Given the description of an element on the screen output the (x, y) to click on. 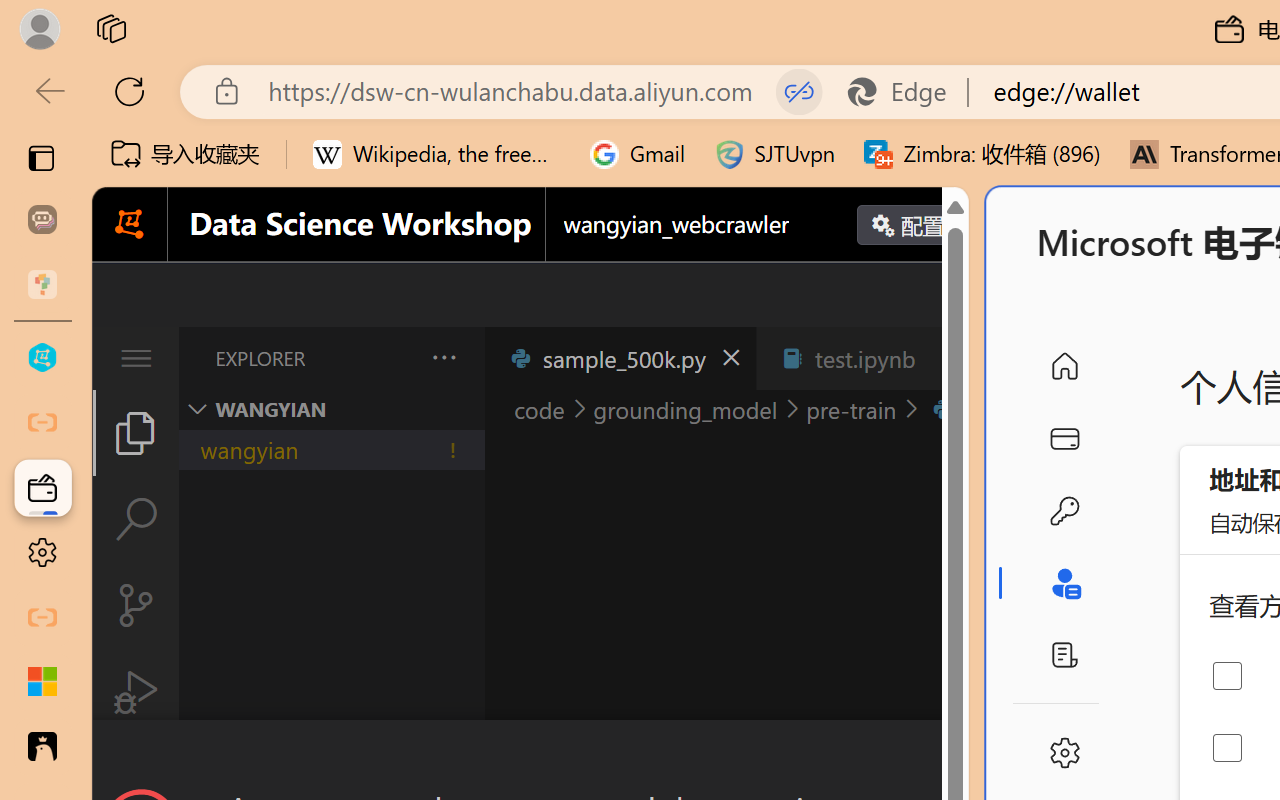
sample_500k.py (619, 358)
Source Control (Ctrl+Shift+G) (135, 604)
Class: menubar compact overflow-menu-only (135, 358)
Explorer actions (391, 358)
Microsoft security help and learning (42, 681)
wangyian_dsw - DSW (42, 357)
